Given the description of an element on the screen output the (x, y) to click on. 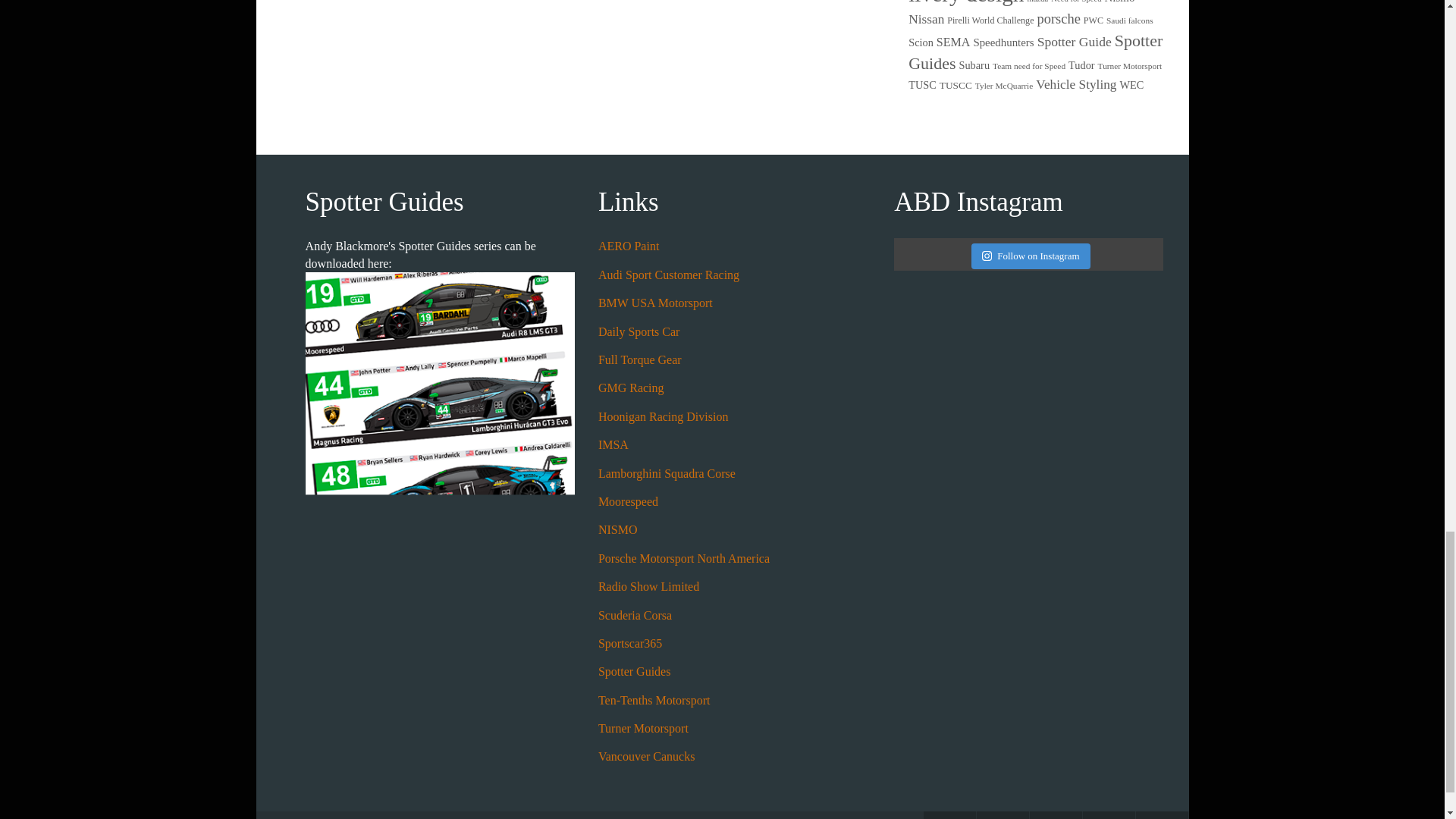
Daily Sportscar (638, 331)
Radio Le Mans (648, 585)
Spotter Guides for fans to download of popular race series (634, 671)
SportsCar 365 by John Dagys (630, 643)
